Given the description of an element on the screen output the (x, y) to click on. 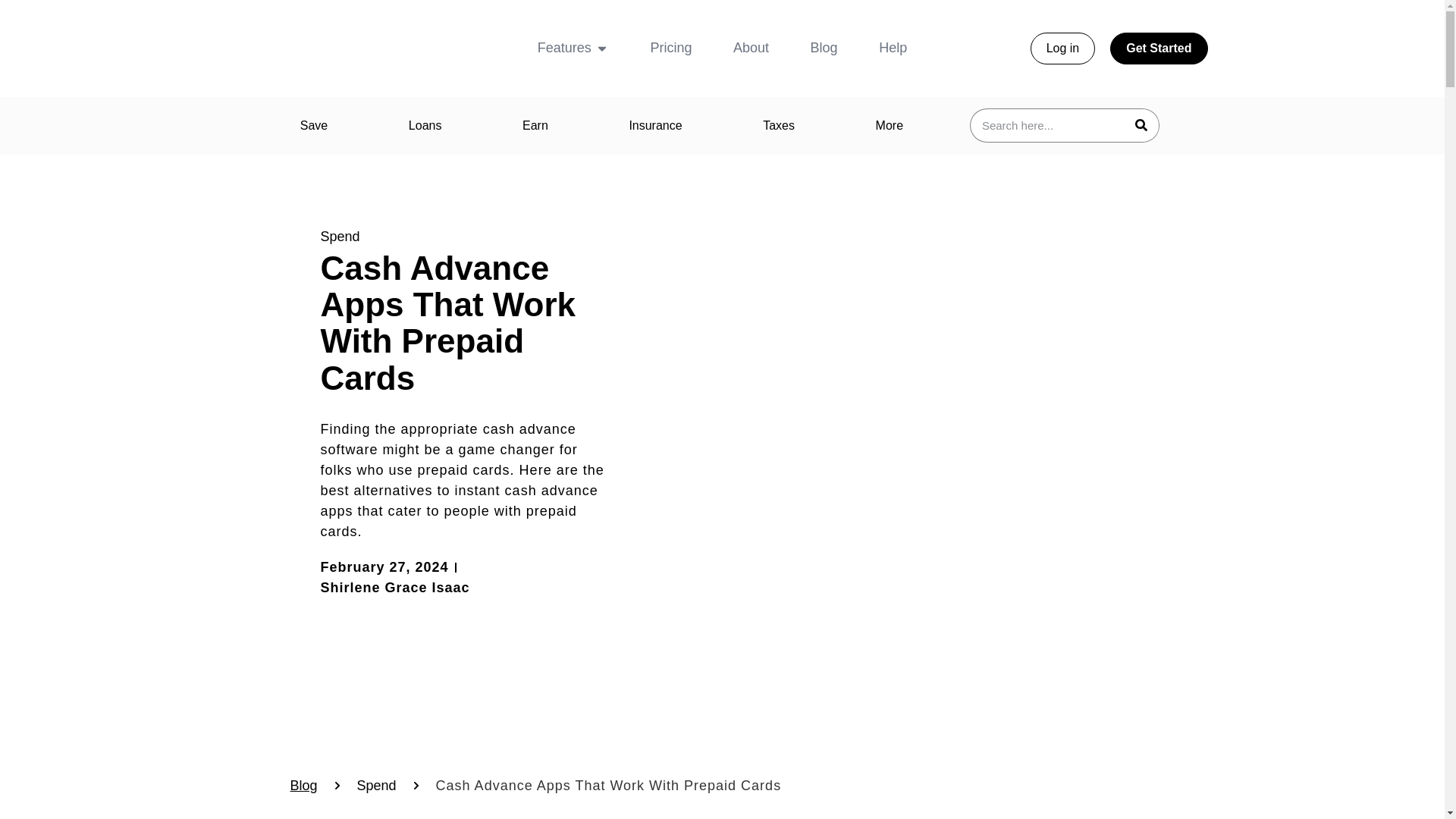
Get Started (1158, 48)
Save (313, 125)
Help (893, 47)
Taxes (778, 125)
Earn (534, 125)
Pricing (670, 47)
Log in (1063, 48)
Loans (424, 125)
Insurance (655, 125)
Blog (824, 47)
About (750, 47)
